Given the description of an element on the screen output the (x, y) to click on. 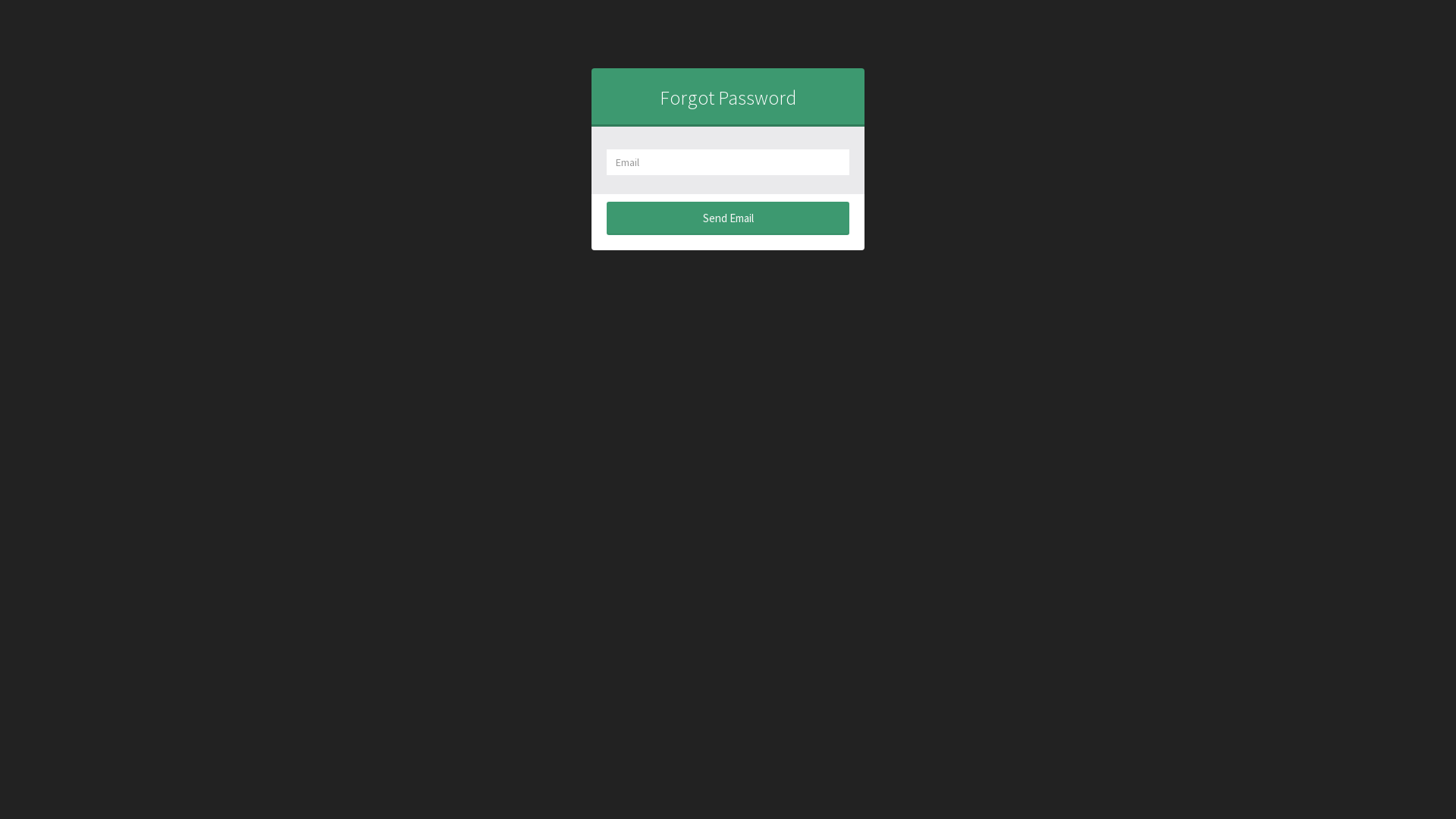
Send Email Element type: text (727, 217)
